Given the description of an element on the screen output the (x, y) to click on. 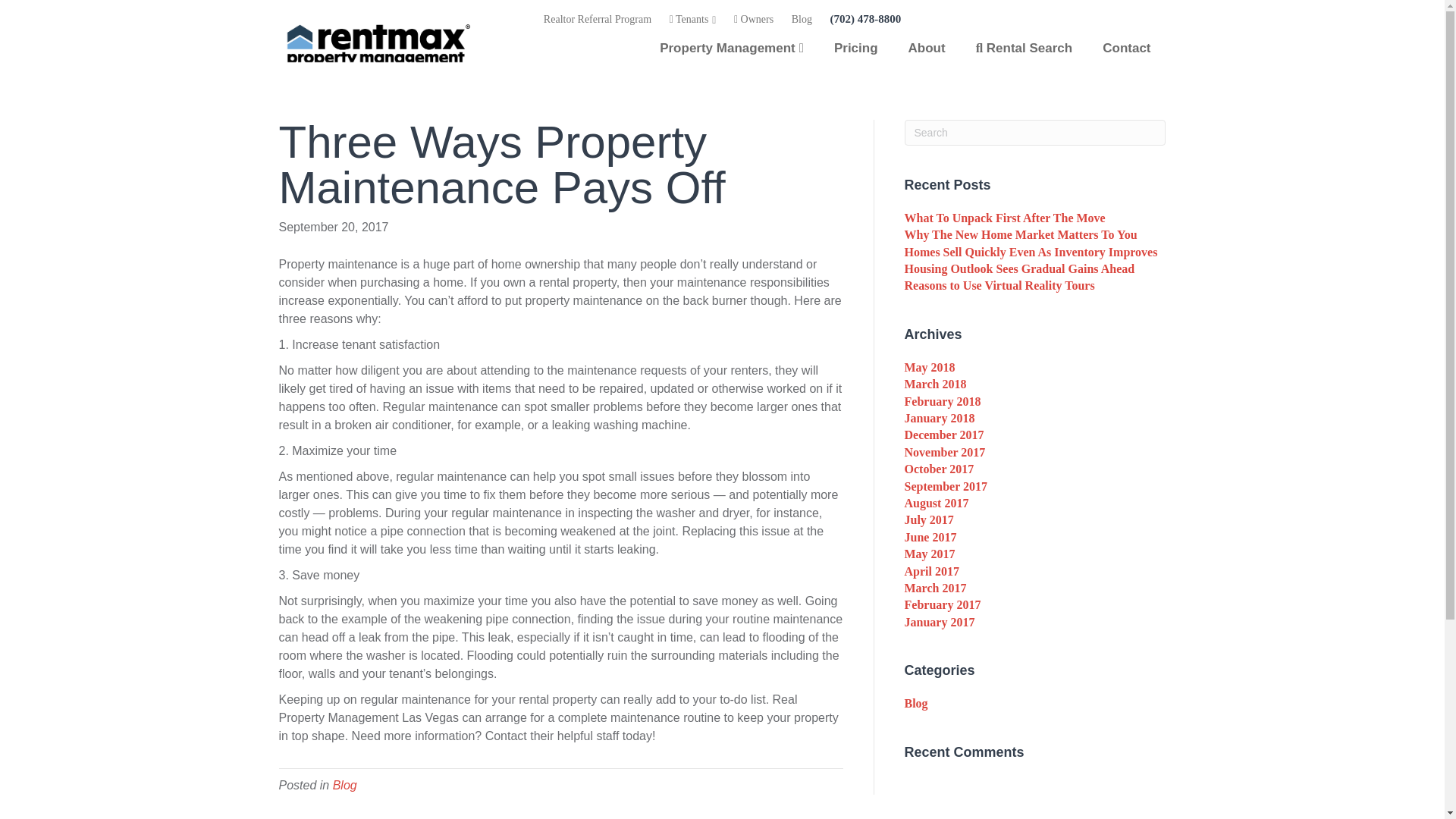
About (926, 47)
Pricing (855, 47)
Property Management Las Vegas (731, 47)
Property Management (731, 47)
Contact (1126, 47)
May 2018 (929, 367)
Reasons to Use Virtual Reality Tours (999, 285)
Why The New Home Market Matters To You (1020, 234)
Rental Search (1023, 47)
March 2018 (935, 383)
